Given the description of an element on the screen output the (x, y) to click on. 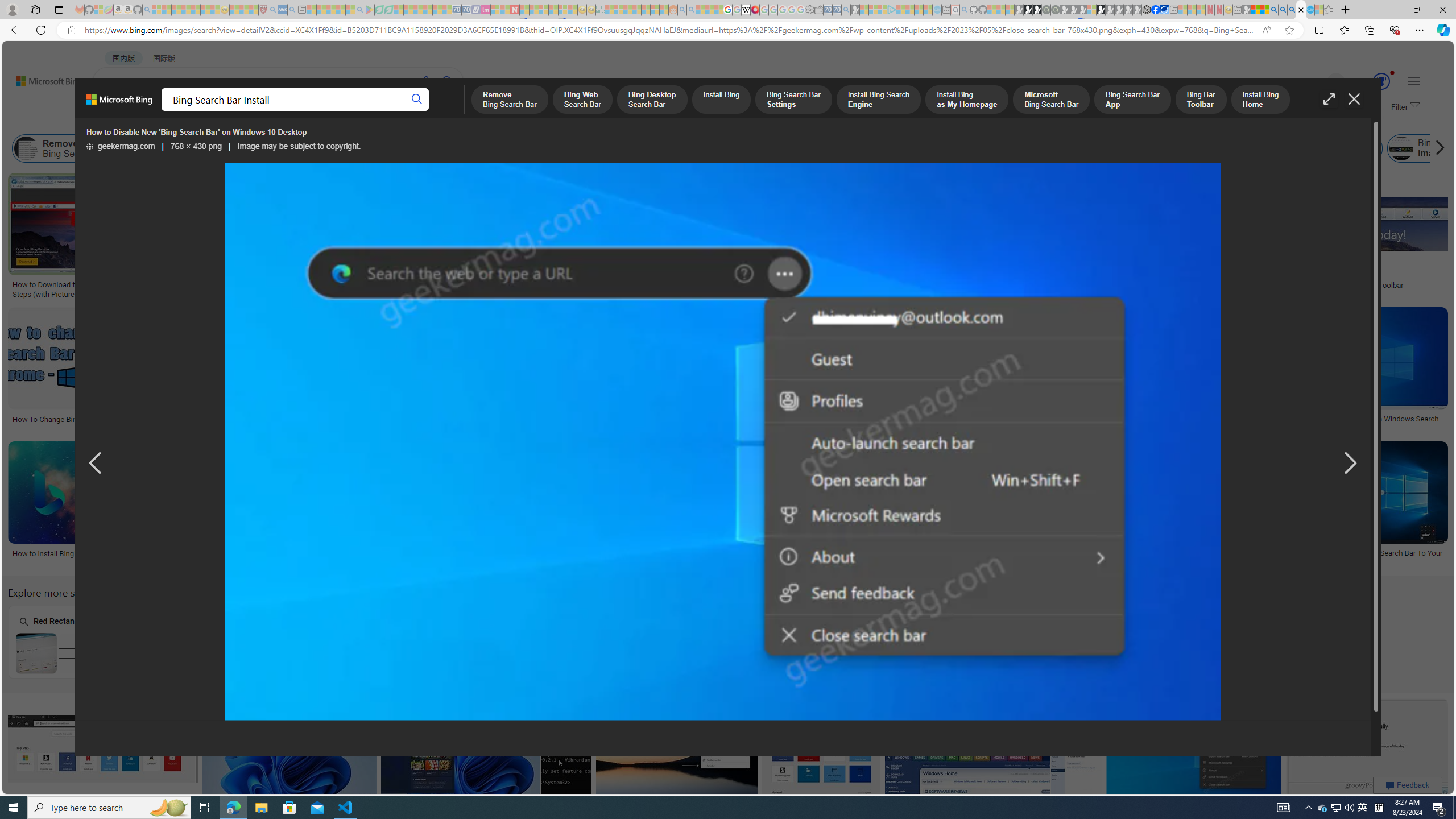
Filter (1403, 107)
Close image (1352, 99)
How to Use Bing Visual Search on Windows Search Bar (436, 557)
MORE (451, 111)
